Given the description of an element on the screen output the (x, y) to click on. 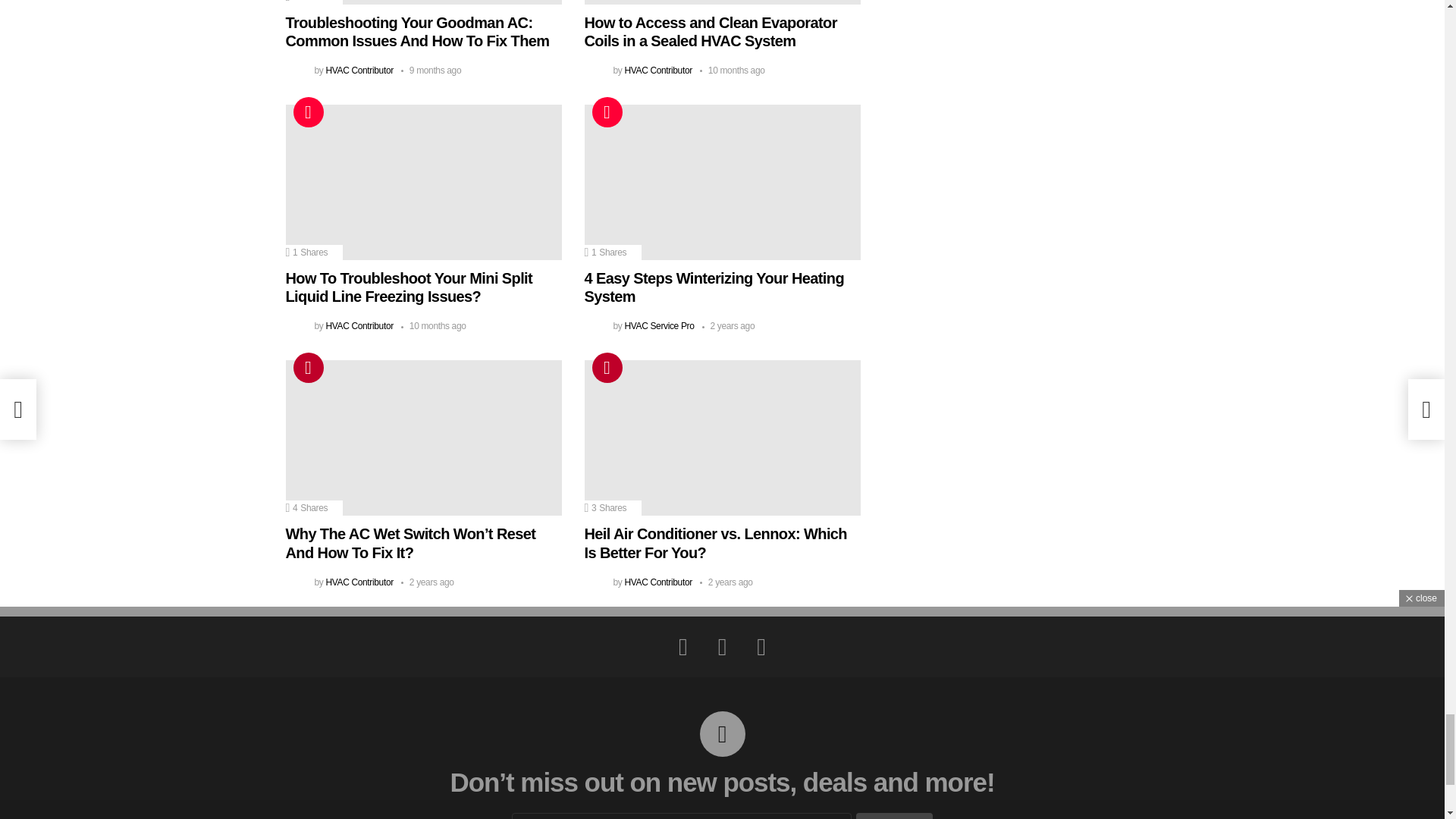
Sign up (894, 816)
